Given the description of an element on the screen output the (x, y) to click on. 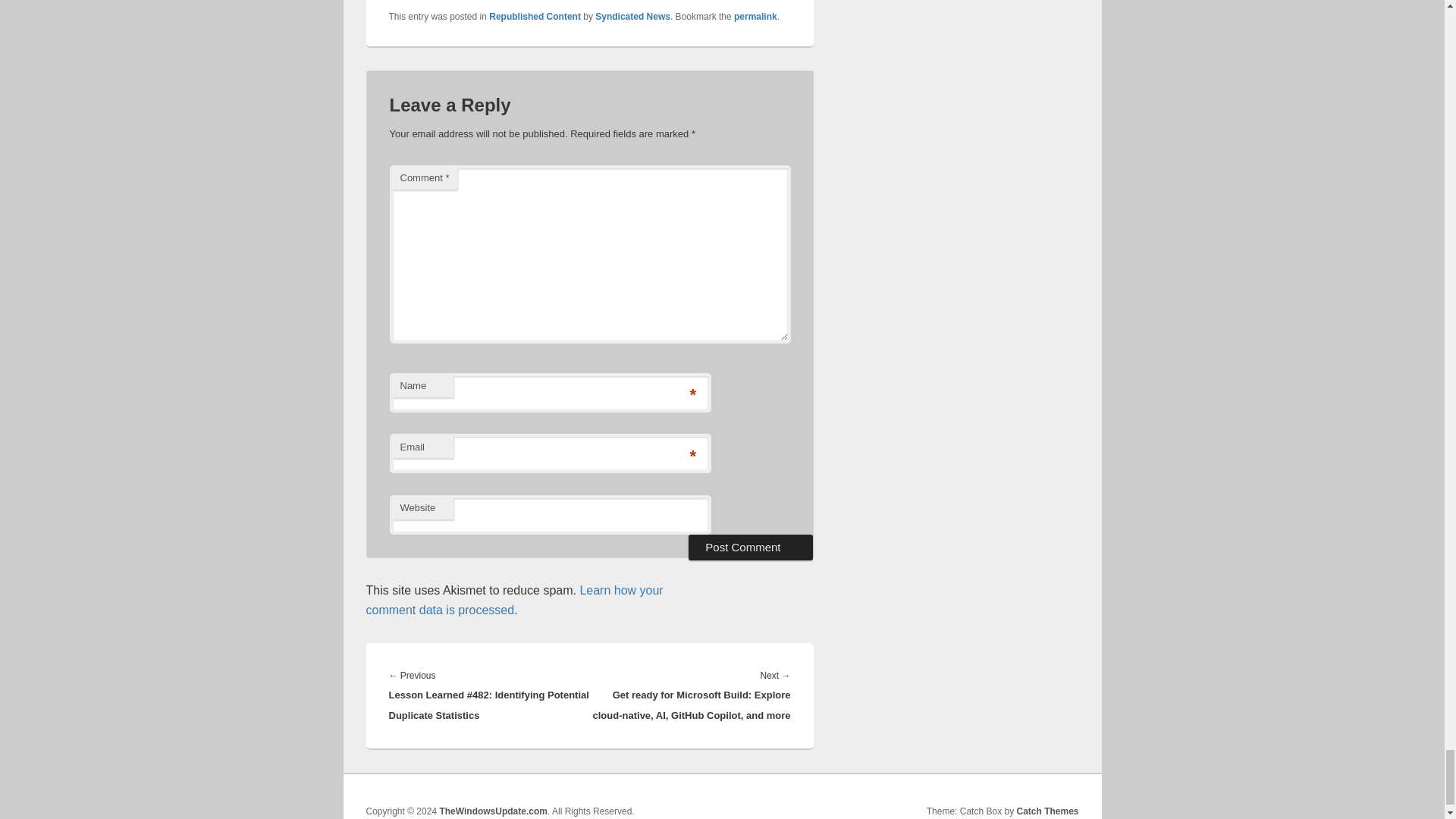
Post Comment (750, 547)
Permalink to Native-first cloud security approach (755, 16)
Catch Themes (1047, 810)
TheWindowsUpdate.com (493, 810)
